Given the description of an element on the screen output the (x, y) to click on. 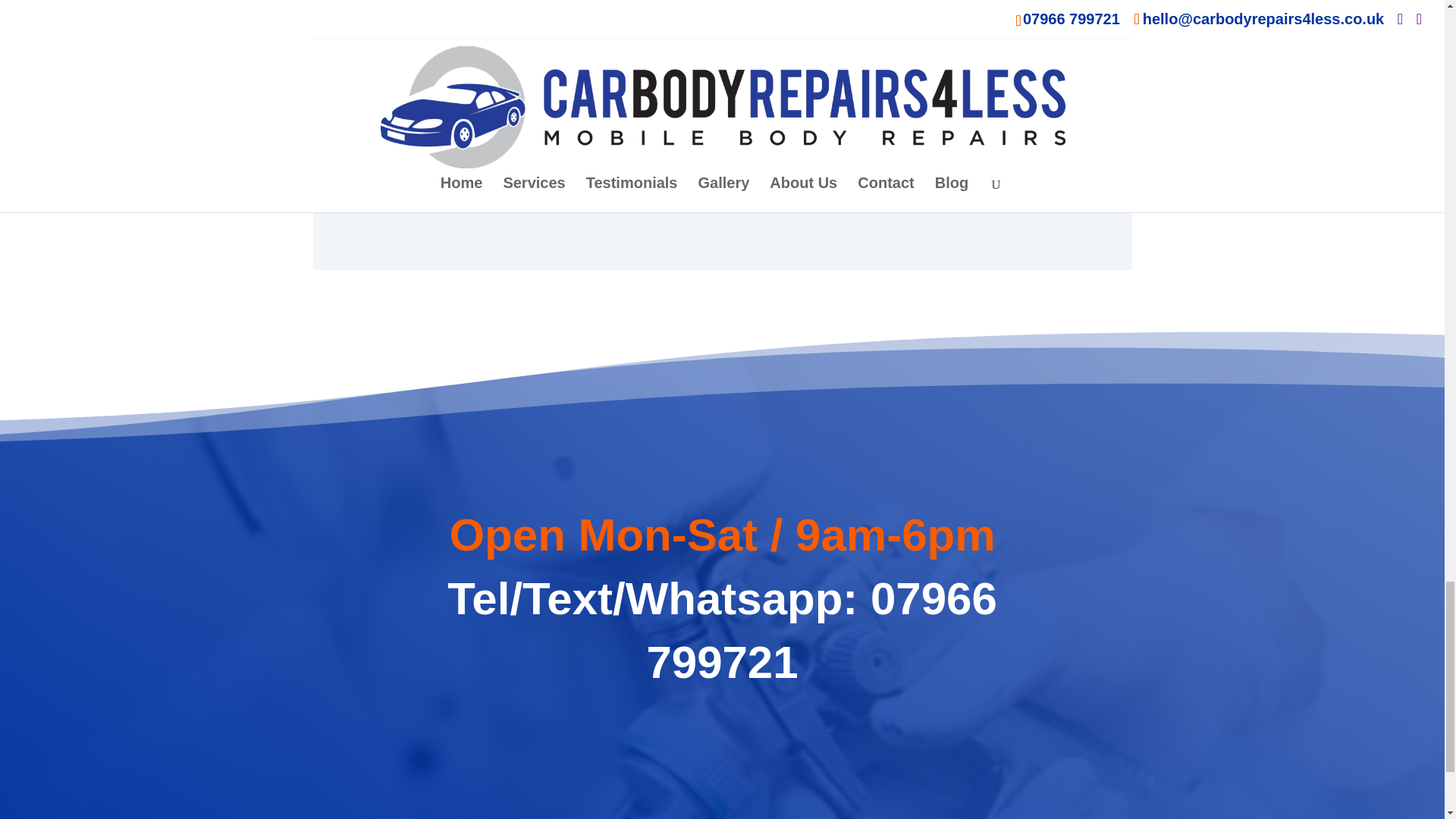
SUBMIT COMMENT (1004, 169)
yes (361, 122)
